Given the description of an element on the screen output the (x, y) to click on. 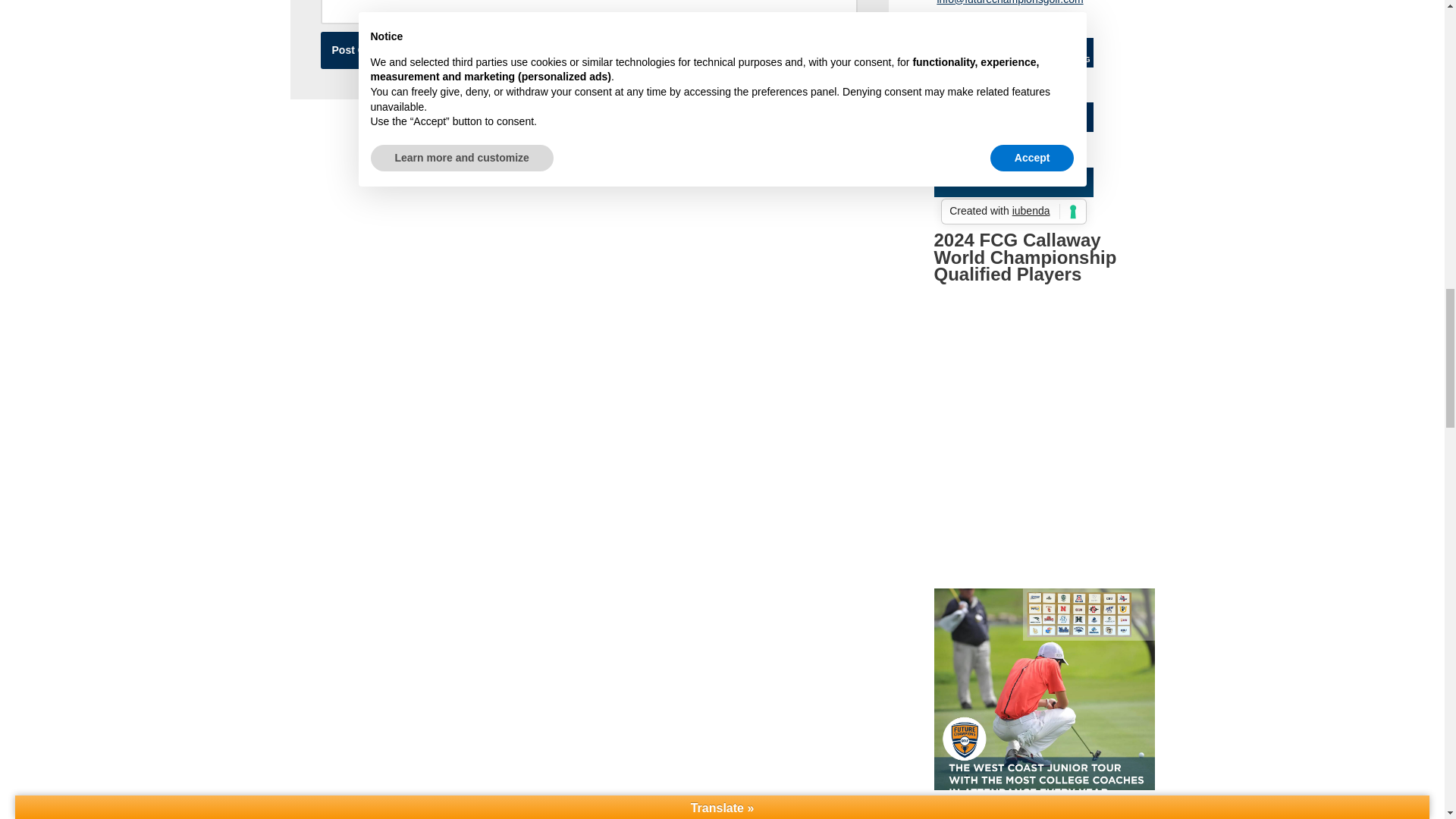
YouTube video player (1044, 496)
Post Comment (368, 49)
